Given the description of an element on the screen output the (x, y) to click on. 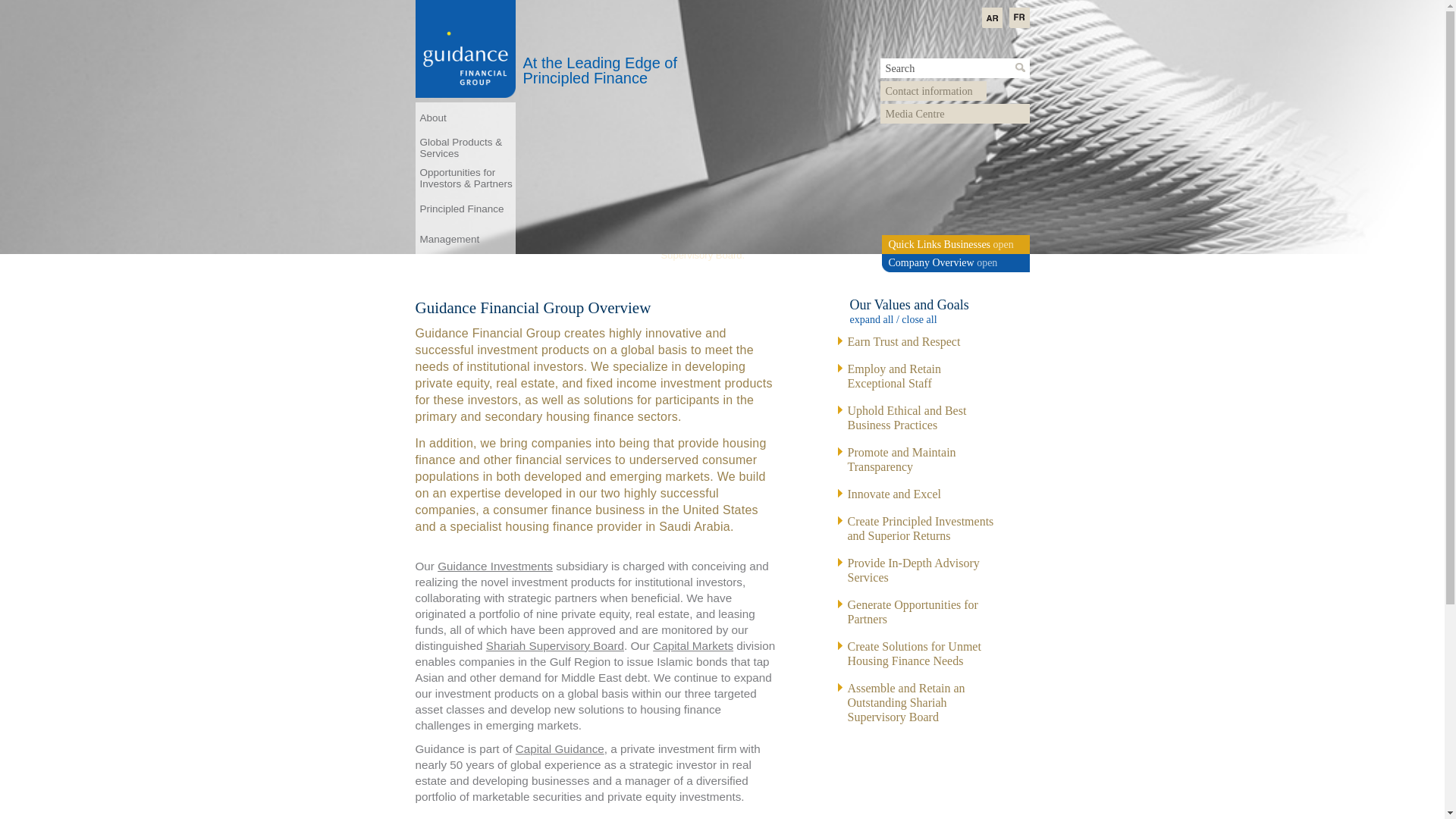
submit (1021, 68)
Principled Finance (464, 208)
Media Centre (954, 113)
Guidance Investments (495, 565)
Contact information (932, 90)
Capital Guidance (559, 748)
submit (1021, 68)
Management (464, 238)
Search (954, 67)
About (464, 117)
Fixed Income (692, 645)
Shariah Supervisory Board (555, 645)
